Given the description of an element on the screen output the (x, y) to click on. 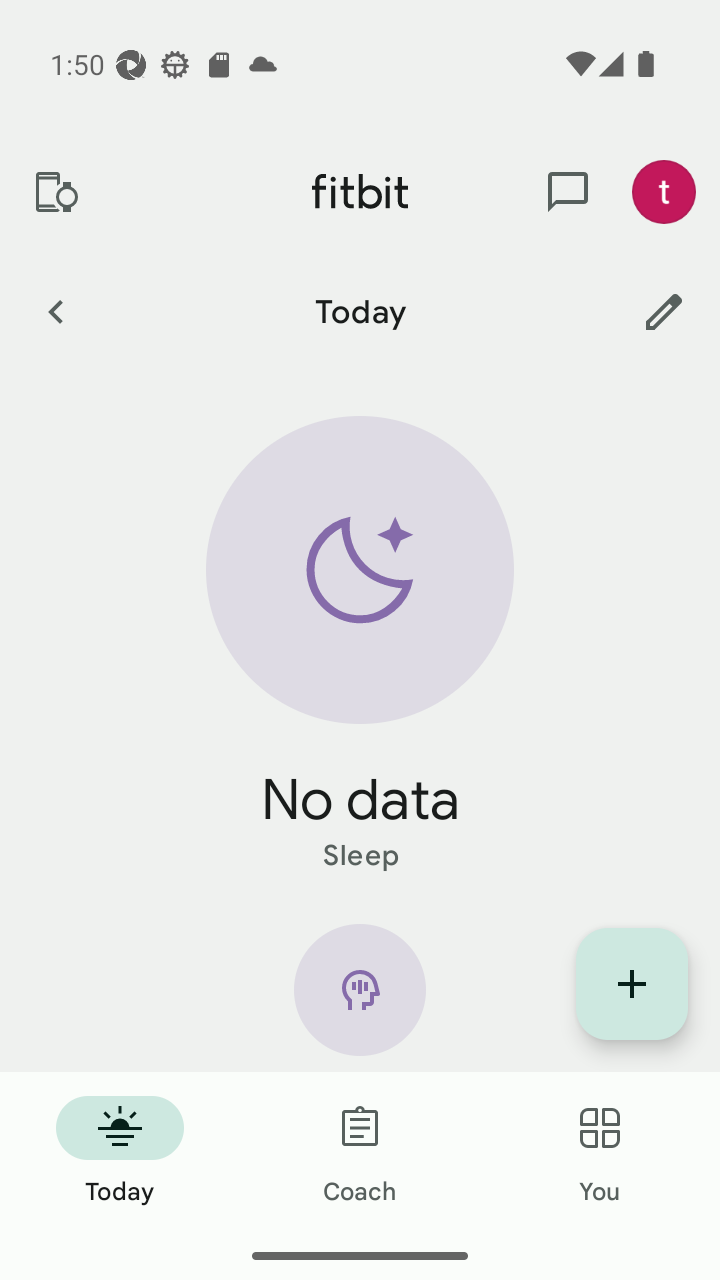
Devices and apps (55, 191)
messages and notifications (567, 191)
Previous Day (55, 311)
Customize (664, 311)
Sleep static hero arc No data Sleep (359, 645)
Mindfulness icon (360, 998)
Display list of quick log entries (632, 983)
Coach (359, 1151)
You (600, 1151)
